Given the description of an element on the screen output the (x, y) to click on. 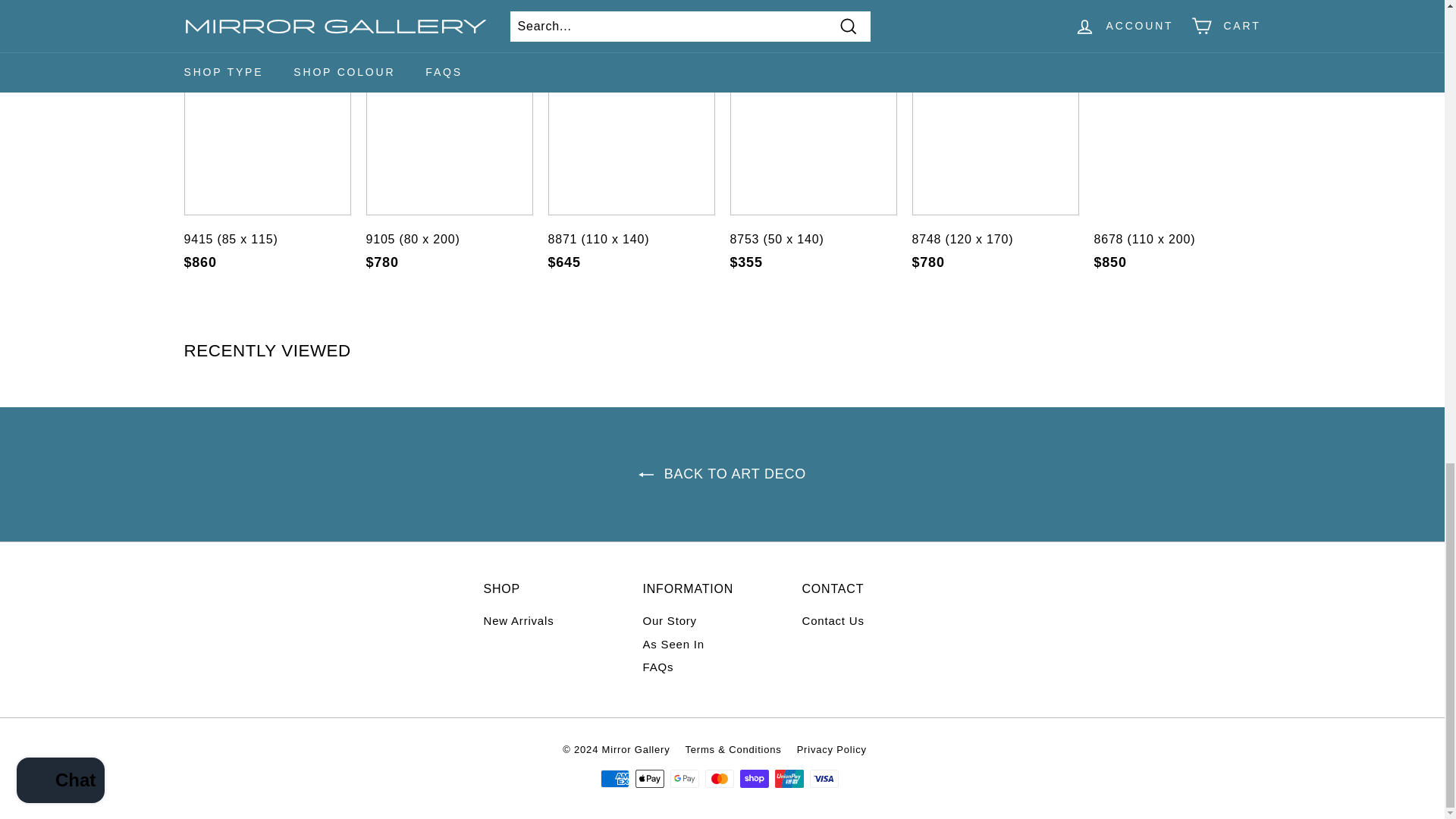
Shop Pay (753, 778)
American Express (613, 778)
Visa (823, 778)
Mastercard (718, 778)
Google Pay (683, 778)
Apple Pay (648, 778)
Union Pay (788, 778)
